Given the description of an element on the screen output the (x, y) to click on. 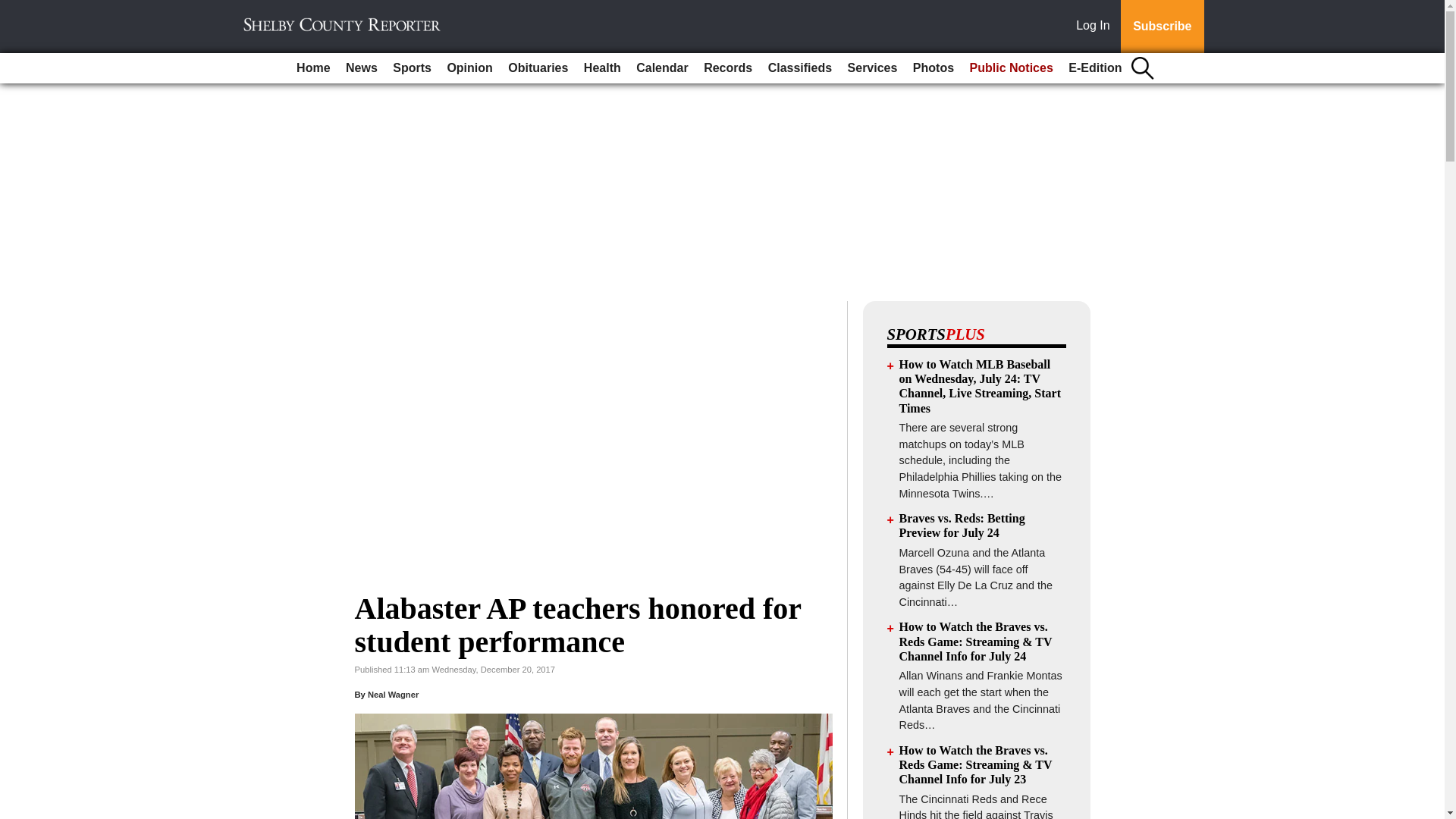
Opinion (469, 68)
Health (602, 68)
News (361, 68)
Services (872, 68)
Subscribe (1162, 26)
Home (312, 68)
Sports (412, 68)
Calendar (662, 68)
Obituaries (537, 68)
Records (727, 68)
Classifieds (799, 68)
Log In (1095, 26)
